Given the description of an element on the screen output the (x, y) to click on. 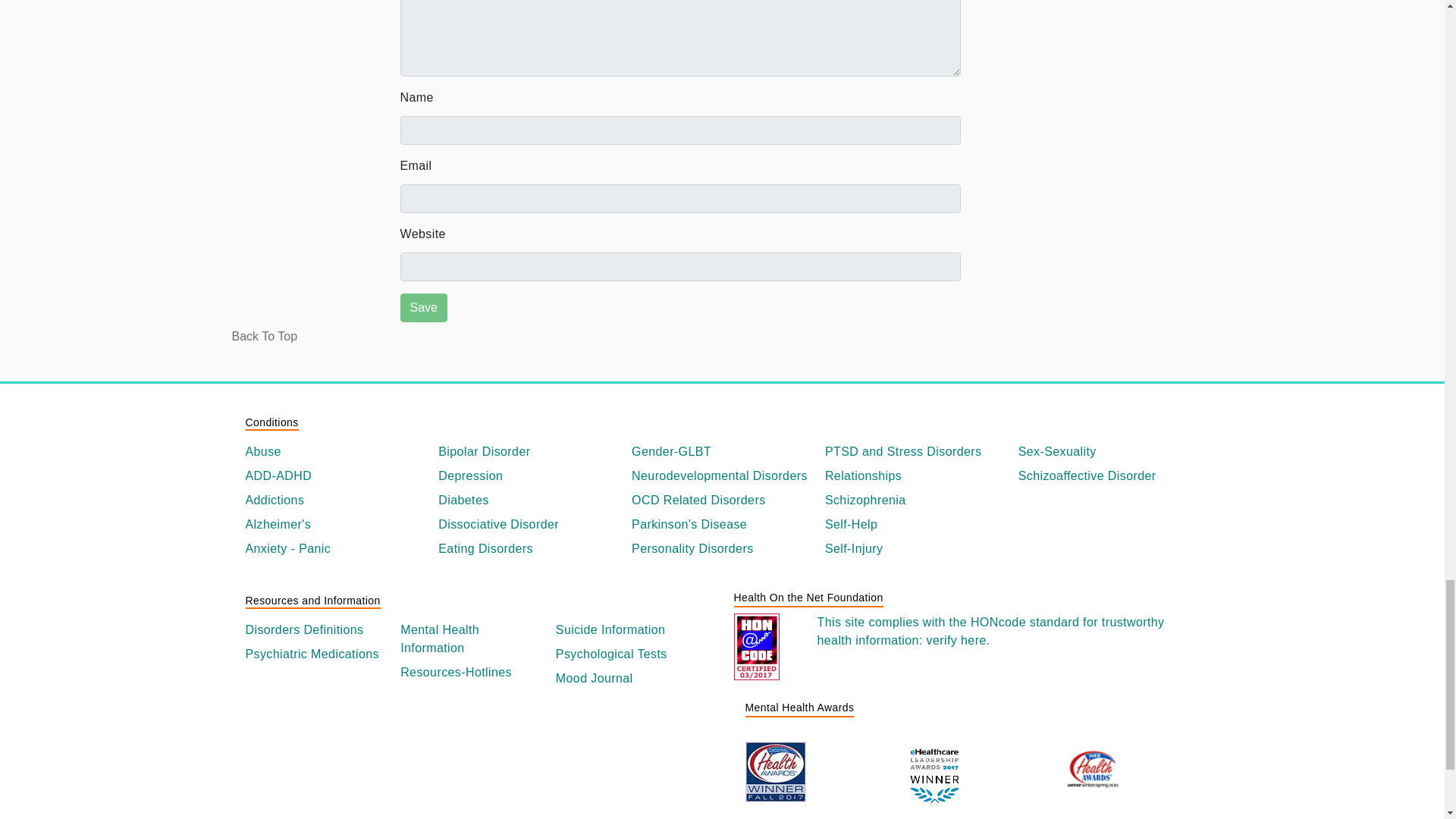
Parkinson's Disease Information Articles (721, 524)
